Given the description of an element on the screen output the (x, y) to click on. 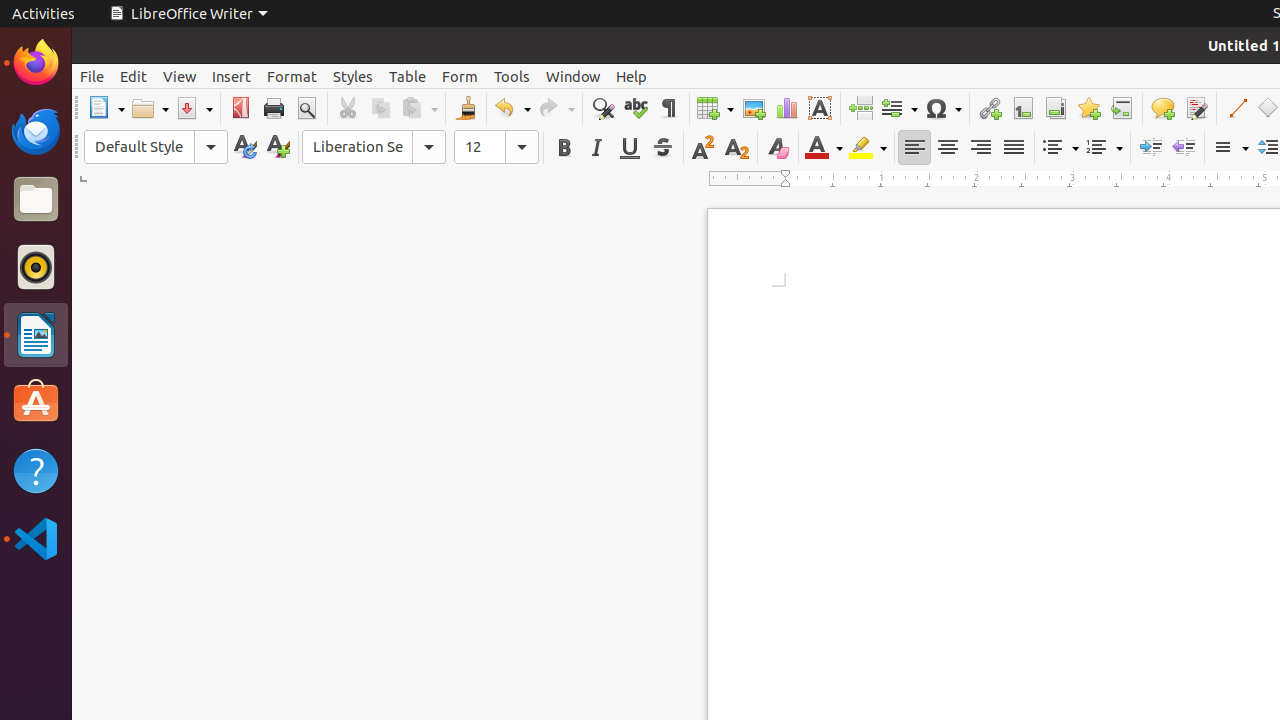
Form Element type: menu (460, 76)
Image Element type: push-button (753, 108)
Footnote Element type: push-button (1022, 108)
Hyperlink Element type: toggle-button (989, 108)
Save Element type: push-button (194, 108)
